Given the description of an element on the screen output the (x, y) to click on. 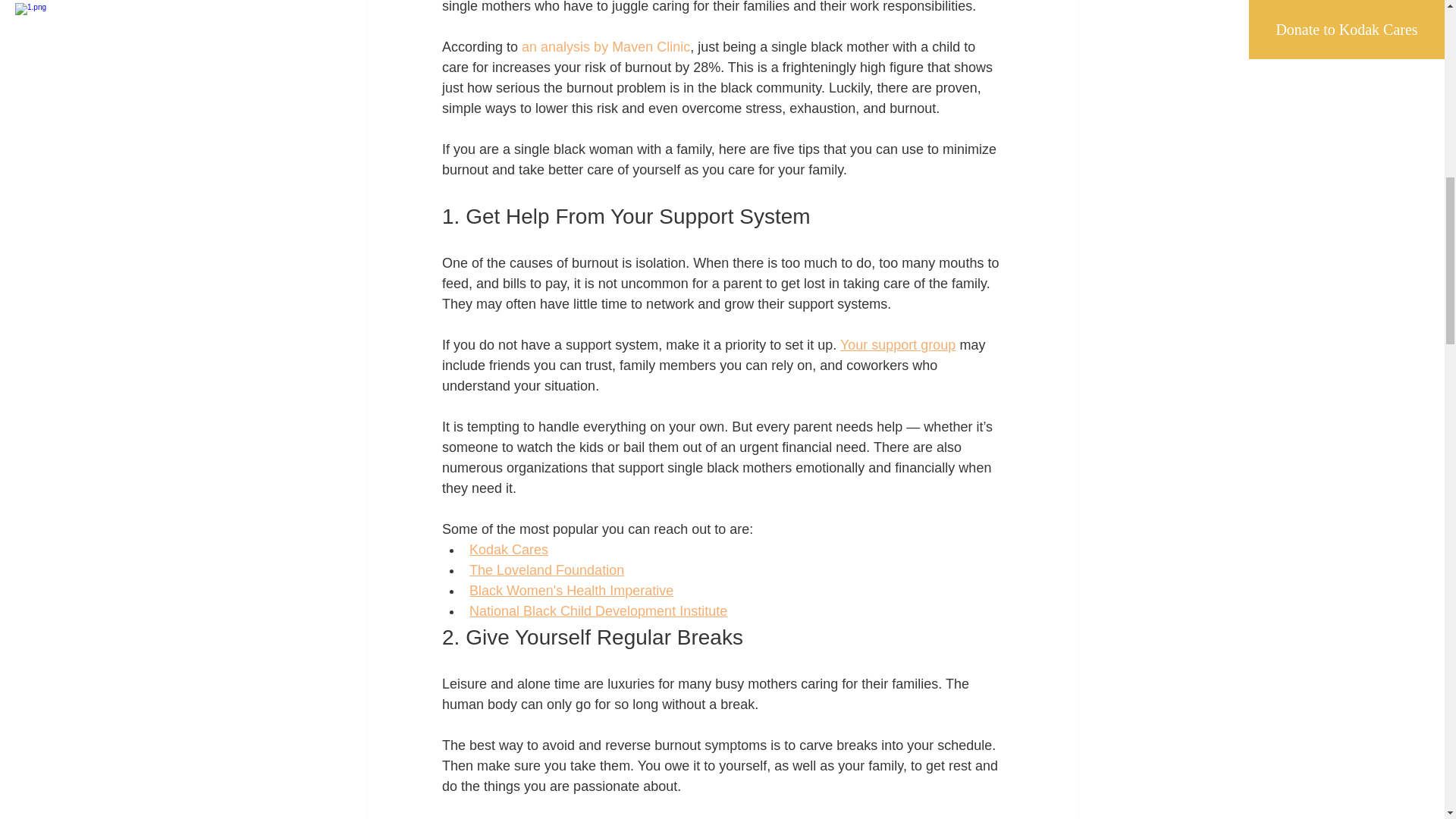
National Black Child Development Institute (597, 611)
Your support group (897, 344)
The Loveland Foundation (545, 570)
Kodak Cares (507, 549)
Black Women's Health Imperative (570, 590)
 an analysis by Maven Clinic (604, 46)
